Given the description of an element on the screen output the (x, y) to click on. 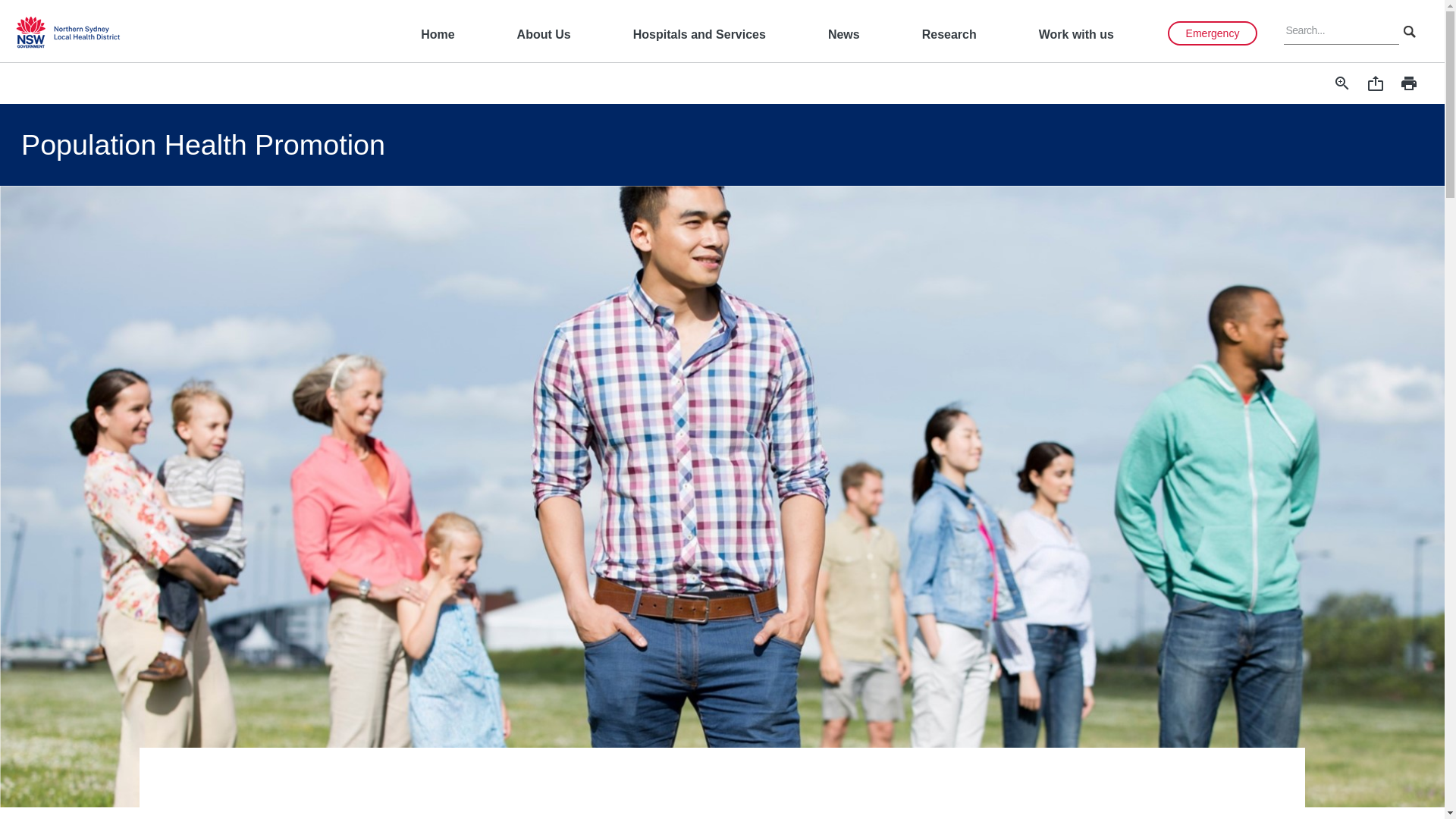
Home Element type: text (437, 34)
Re-size text Element type: hover (1342, 81)
Emergency Element type: text (1212, 33)
Research Element type: text (949, 34)
Work with us Element type: text (1076, 34)
Print Element type: hover (1408, 81)
Share on Social Media Element type: hover (1375, 81)
About Us Element type: text (543, 34)
News Element type: text (843, 34)
Hospitals and Services Element type: text (699, 34)
